Given the description of an element on the screen output the (x, y) to click on. 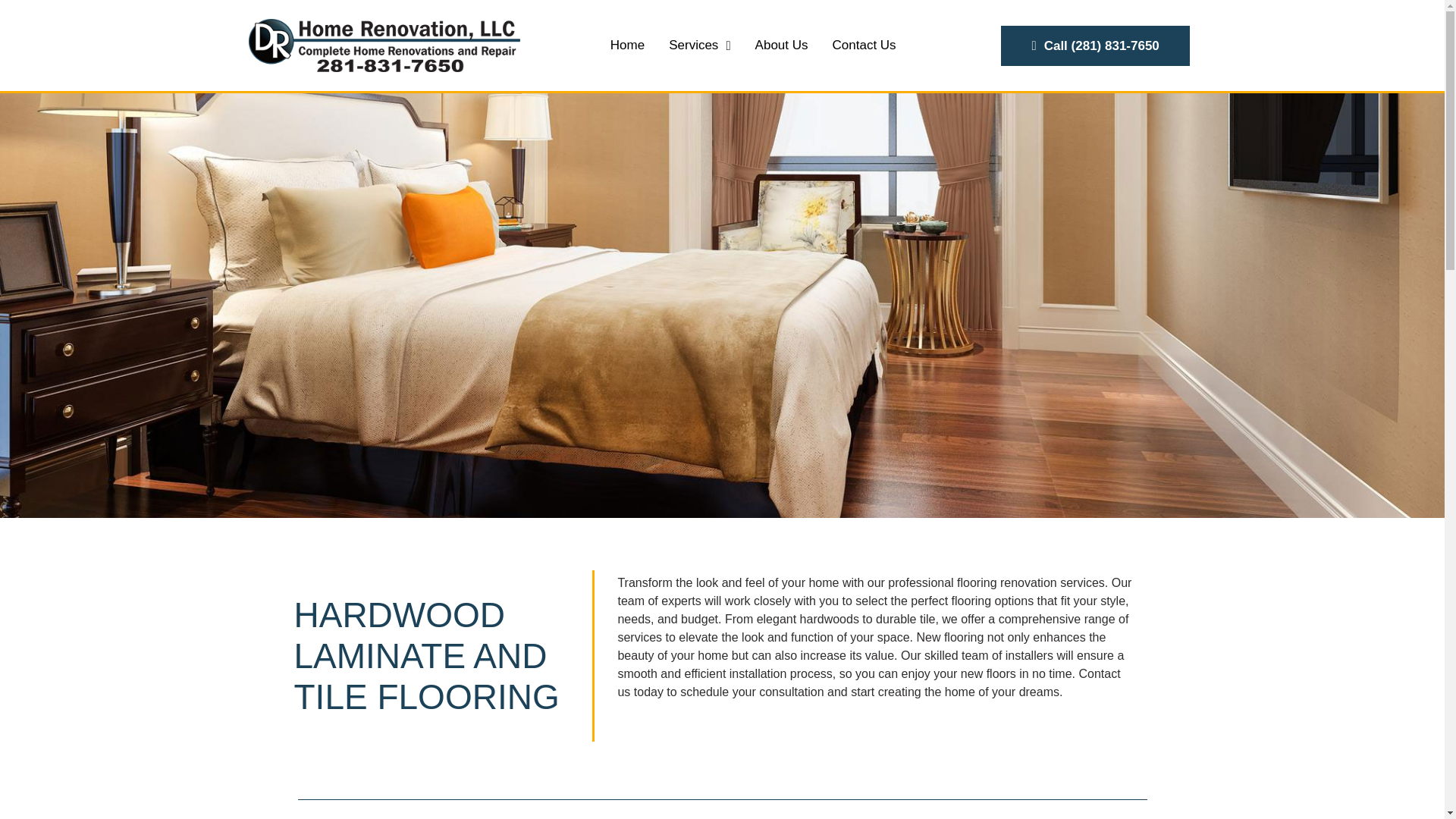
About Us (781, 44)
Services (699, 44)
Home (627, 44)
Contact Us (864, 44)
